Given the description of an element on the screen output the (x, y) to click on. 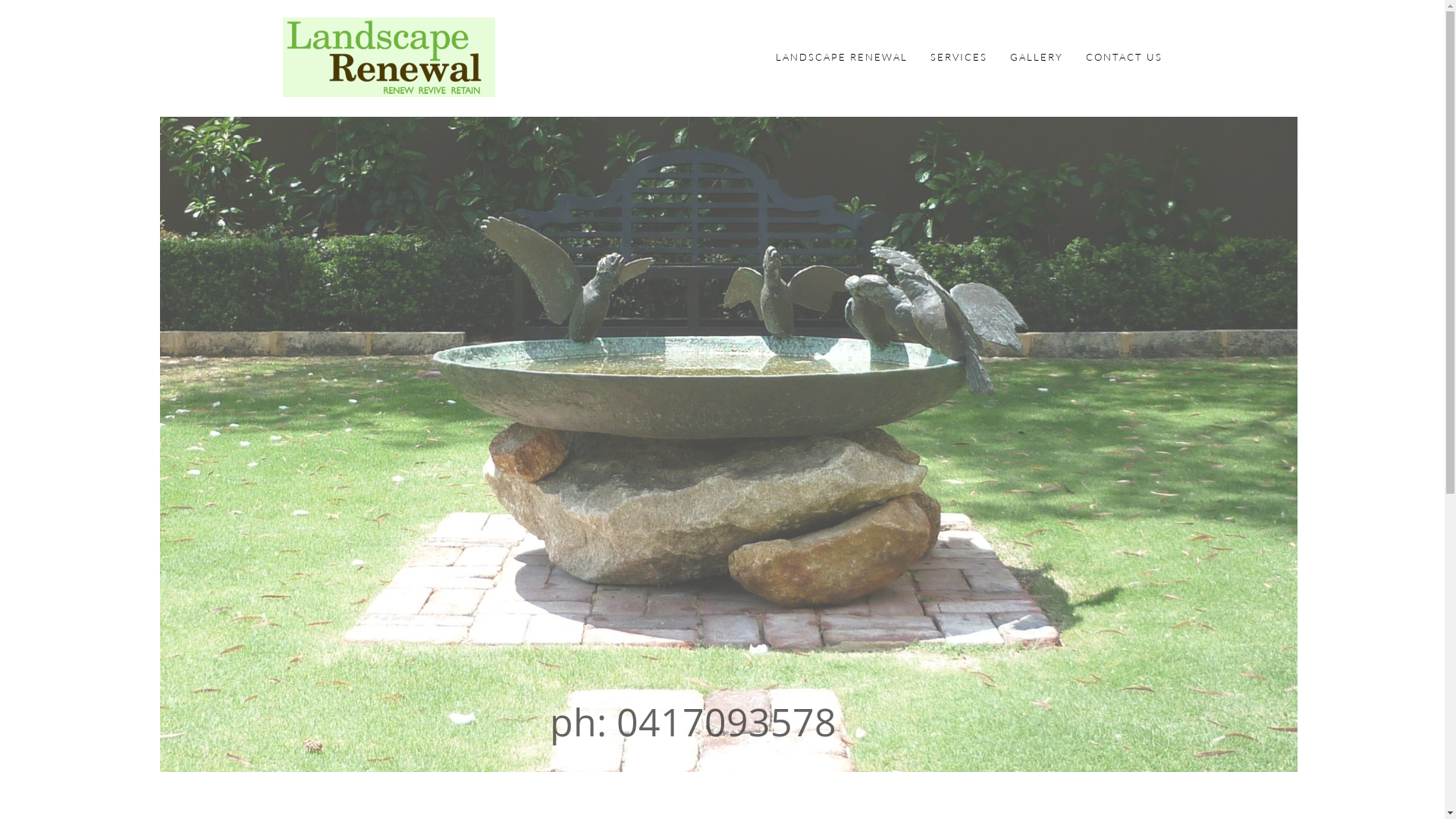
LANDSCAPE RENEWAL Element type: text (840, 56)
GALLERY Element type: text (1036, 56)
CONTACT US Element type: text (1123, 56)
SERVICES Element type: text (957, 56)
